Given the description of an element on the screen output the (x, y) to click on. 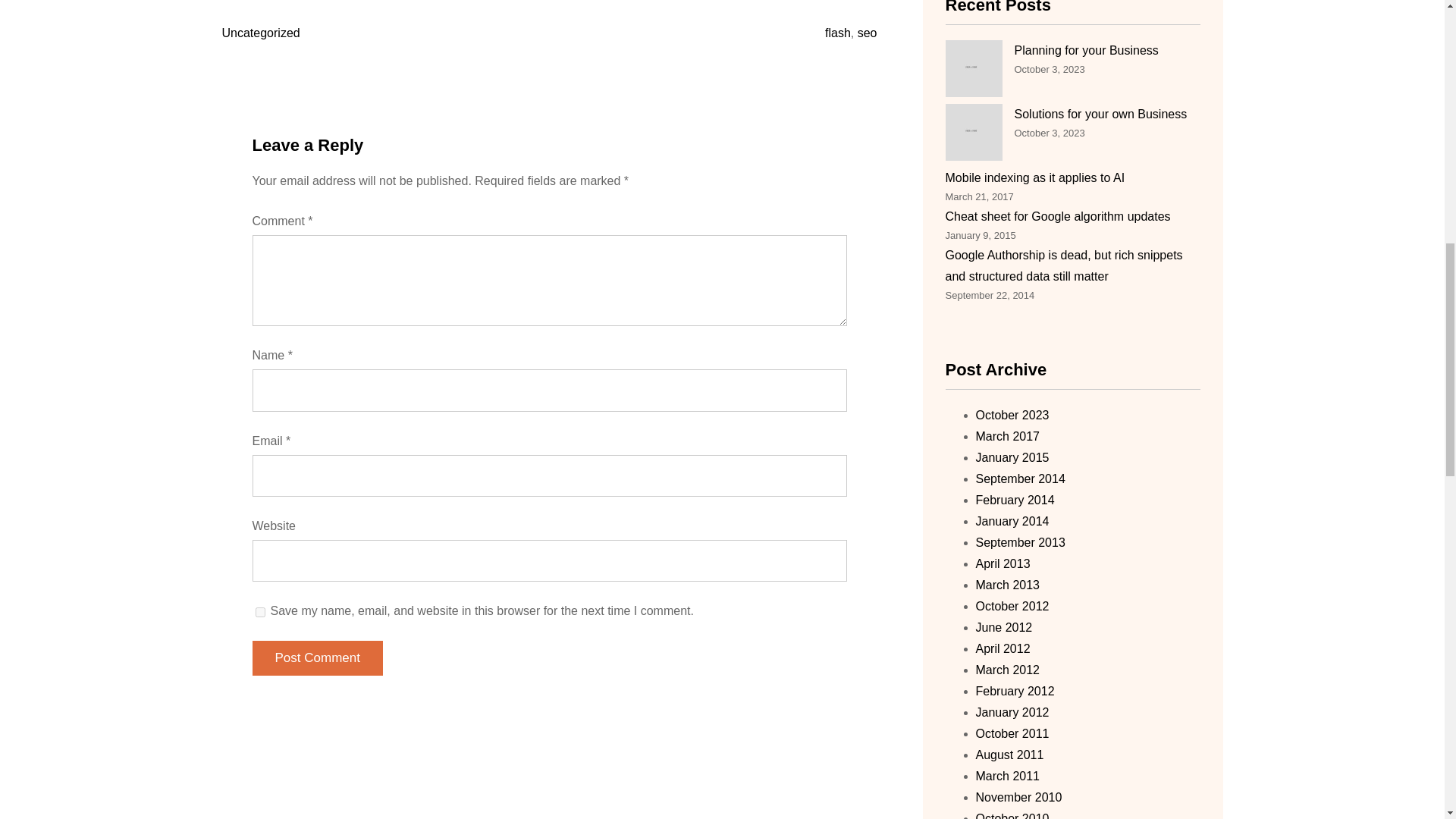
Uncategorized (260, 32)
February 2014 (1014, 499)
Post Comment (316, 657)
Post Comment (316, 657)
January 2015 (1011, 457)
September 2014 (1019, 478)
April 2013 (1002, 563)
seo (867, 32)
Mobile indexing as it applies to AI (1034, 177)
Cheat sheet for Google algorithm updates (1057, 215)
Planning for your Business (1086, 50)
October 2023 (1011, 414)
March 2017 (1007, 436)
Solutions for your own Business (1101, 113)
